Given the description of an element on the screen output the (x, y) to click on. 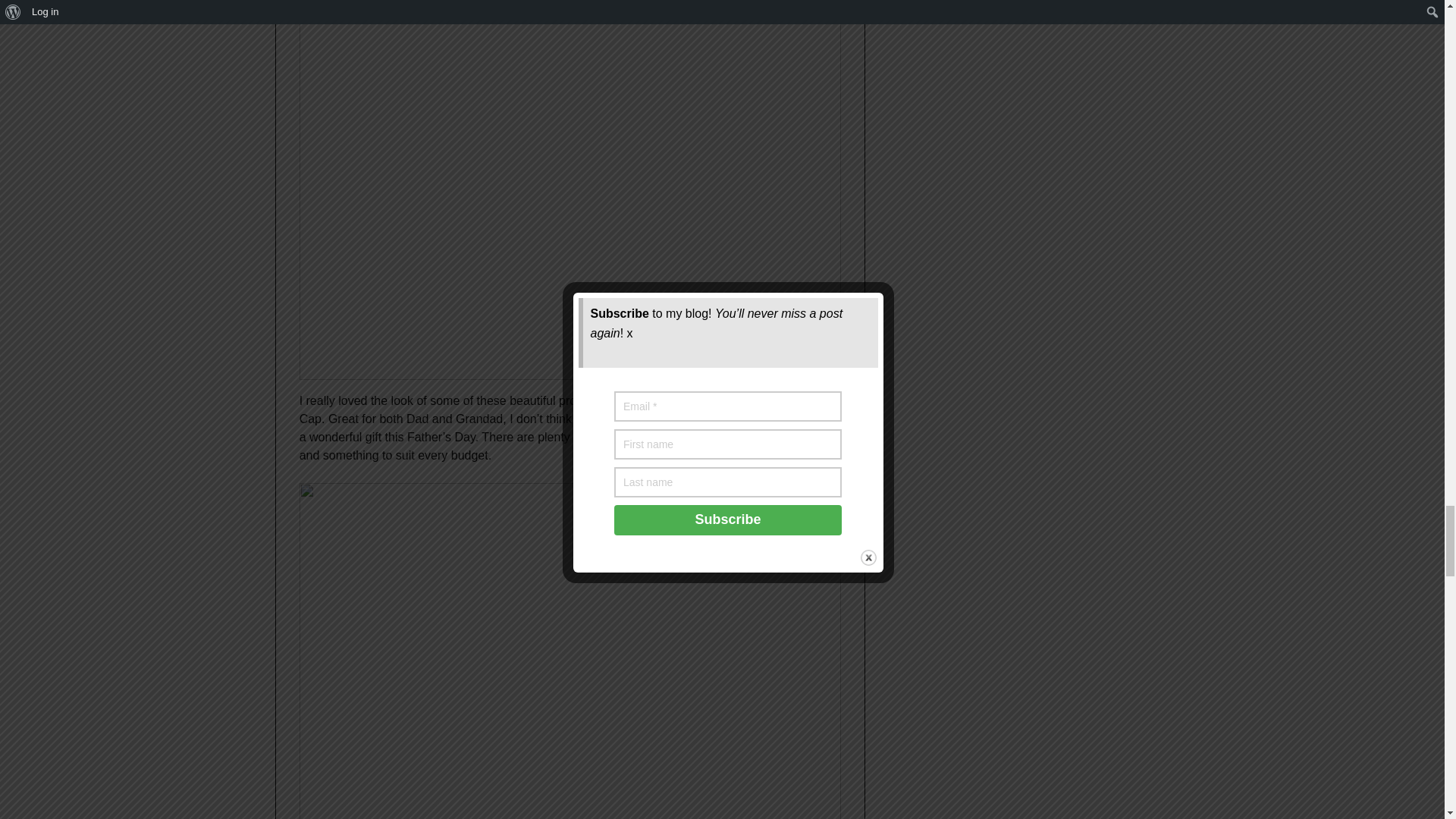
Laird Utility (665, 400)
